Given the description of an element on the screen output the (x, y) to click on. 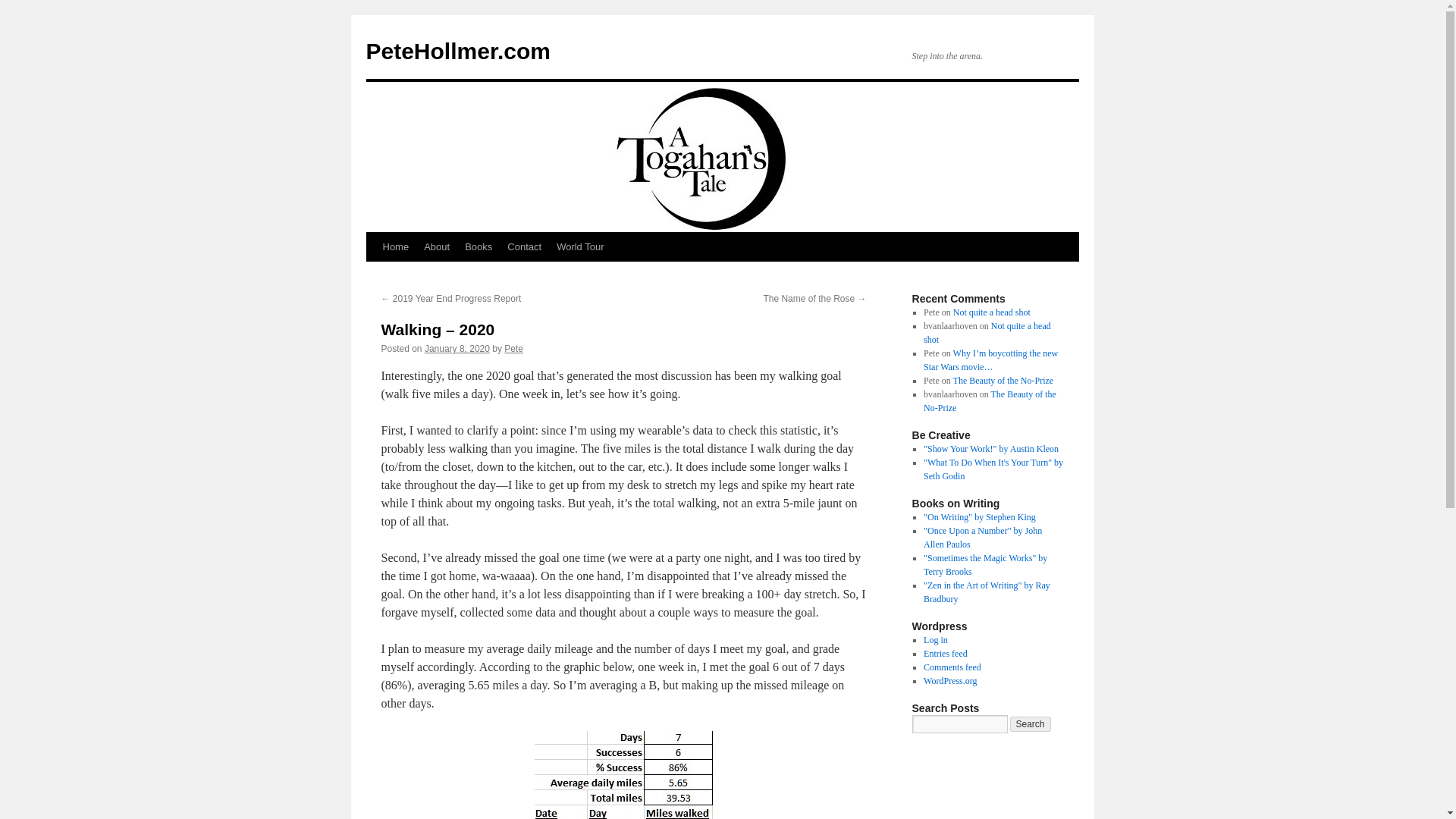
Contact (523, 246)
Pete (512, 348)
Log in (935, 639)
8:03 pm (457, 348)
WordPress.org (949, 680)
Not quite a head shot (987, 332)
The Beauty of the No-Prize (990, 401)
Search (1030, 724)
"What To Do When It's Your Turn" by Seth Godin (992, 469)
Not quite a head shot (991, 312)
